Given the description of an element on the screen output the (x, y) to click on. 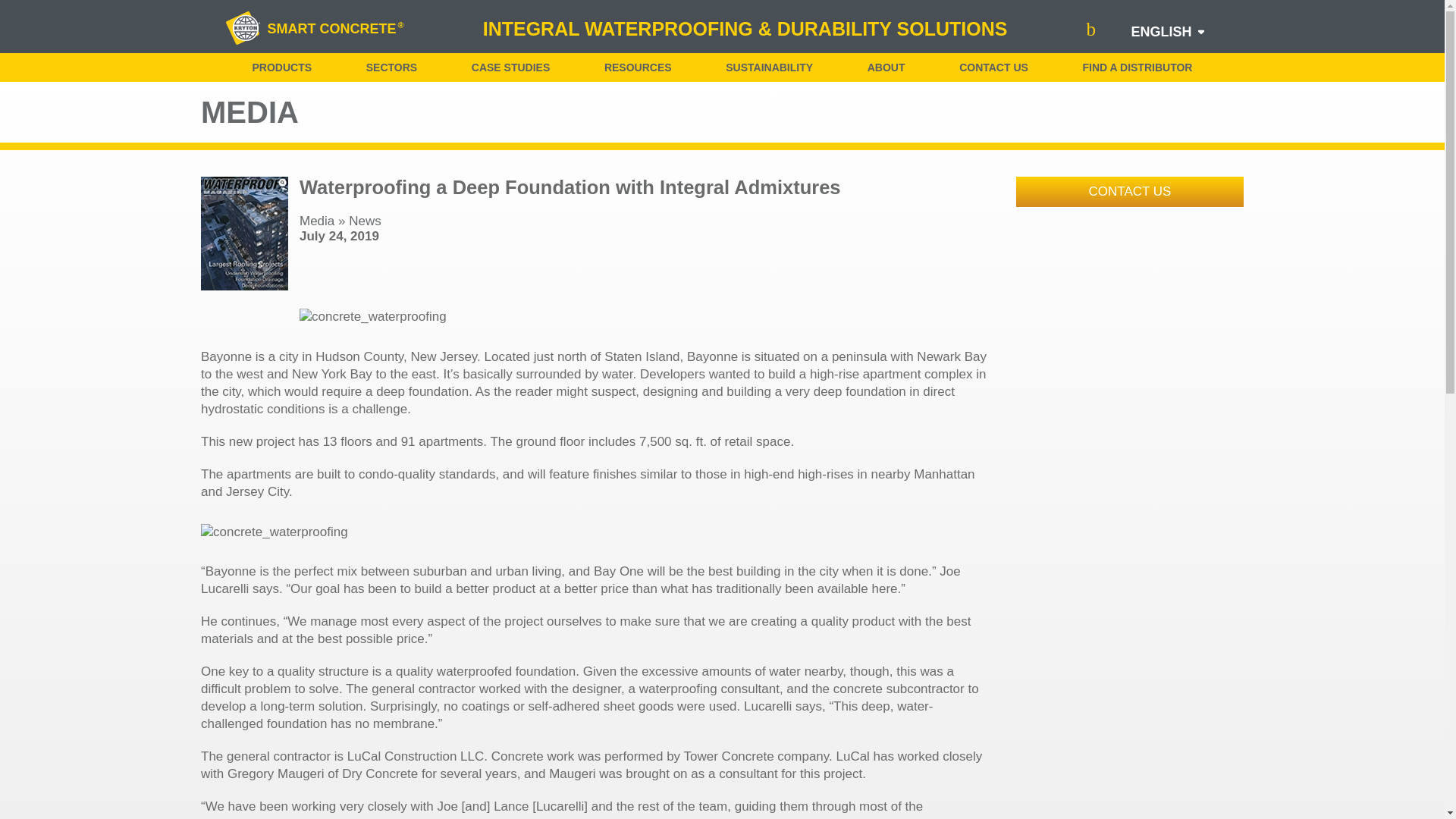
News (365, 221)
Kryton (242, 28)
RESOURCES (637, 67)
PRODUCTS (281, 67)
CASE STUDIES (510, 67)
SECTORS (391, 67)
ENGLISH (1161, 31)
